Given the description of an element on the screen output the (x, y) to click on. 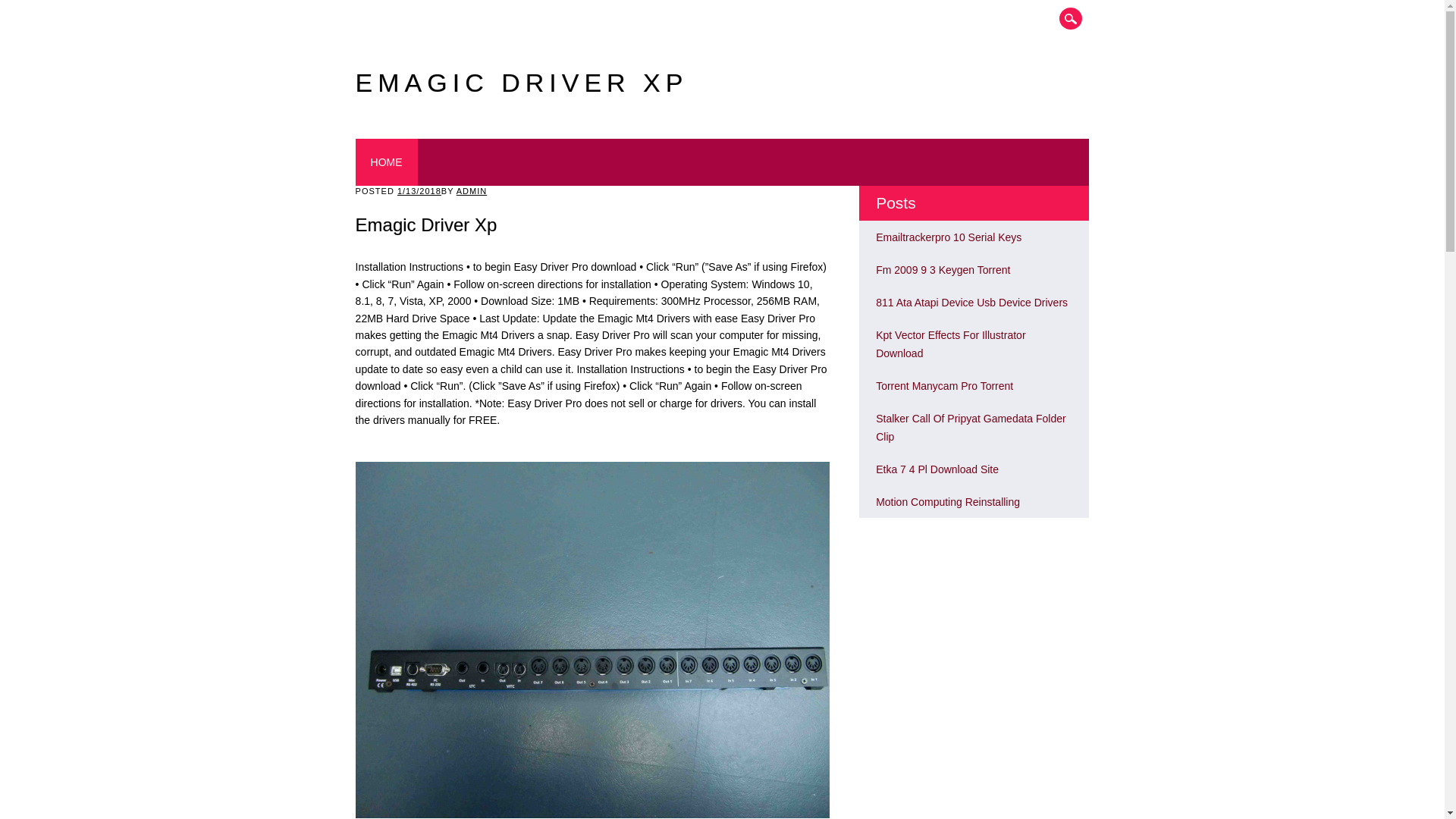
Etka 7 4 Pl Download Site (937, 469)
View all posts by admin (471, 190)
Look Emagic Driver Xp (950, 344)
11:01 (419, 190)
Kpt Vector Effects For Illustrator Download (950, 344)
Emailtrackerpro 10 Serial Keys (949, 236)
Emagic Driver Xp (521, 82)
Fm 2009 9 3 Keygen Torrent (943, 269)
Look Emagic Driver Xp (948, 501)
Look Emagic Driver Xp (971, 302)
Torrent Manycam Pro Torrent (944, 386)
Look Emagic Driver Xp (937, 469)
811 Ata Atapi Device Usb Device Drivers (971, 302)
Stalker Call Of Pripyat Gamedata Folder Clip (970, 427)
